Given the description of an element on the screen output the (x, y) to click on. 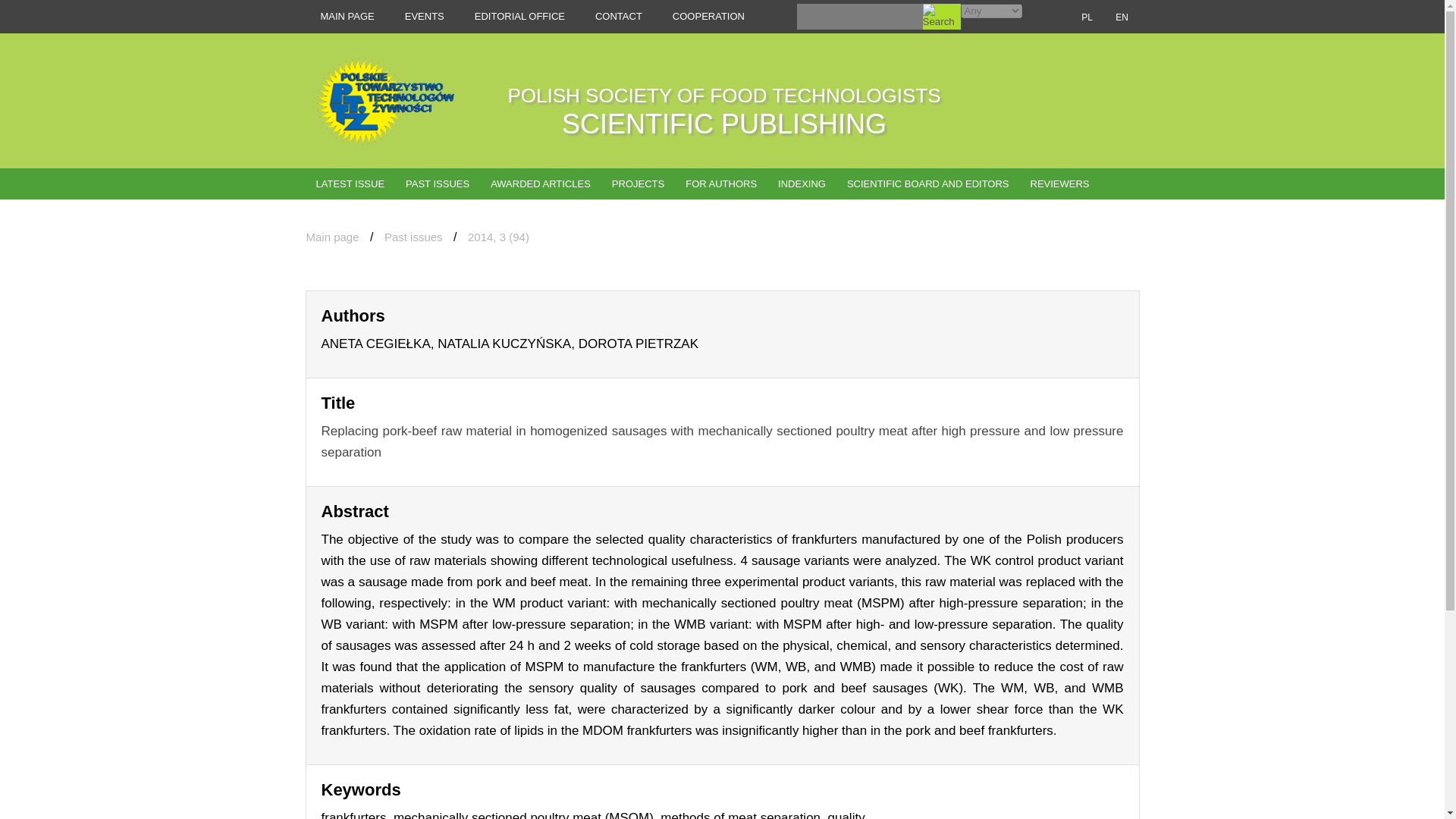
Past issues (413, 236)
EN (1120, 16)
AWARDED ARTICLES (540, 183)
PAST ISSUES (437, 183)
PL (1085, 16)
INDEXING (801, 183)
LATEST ISSUE (724, 110)
FOR AUTHORS (349, 183)
EVENTS (721, 183)
